Given the description of an element on the screen output the (x, y) to click on. 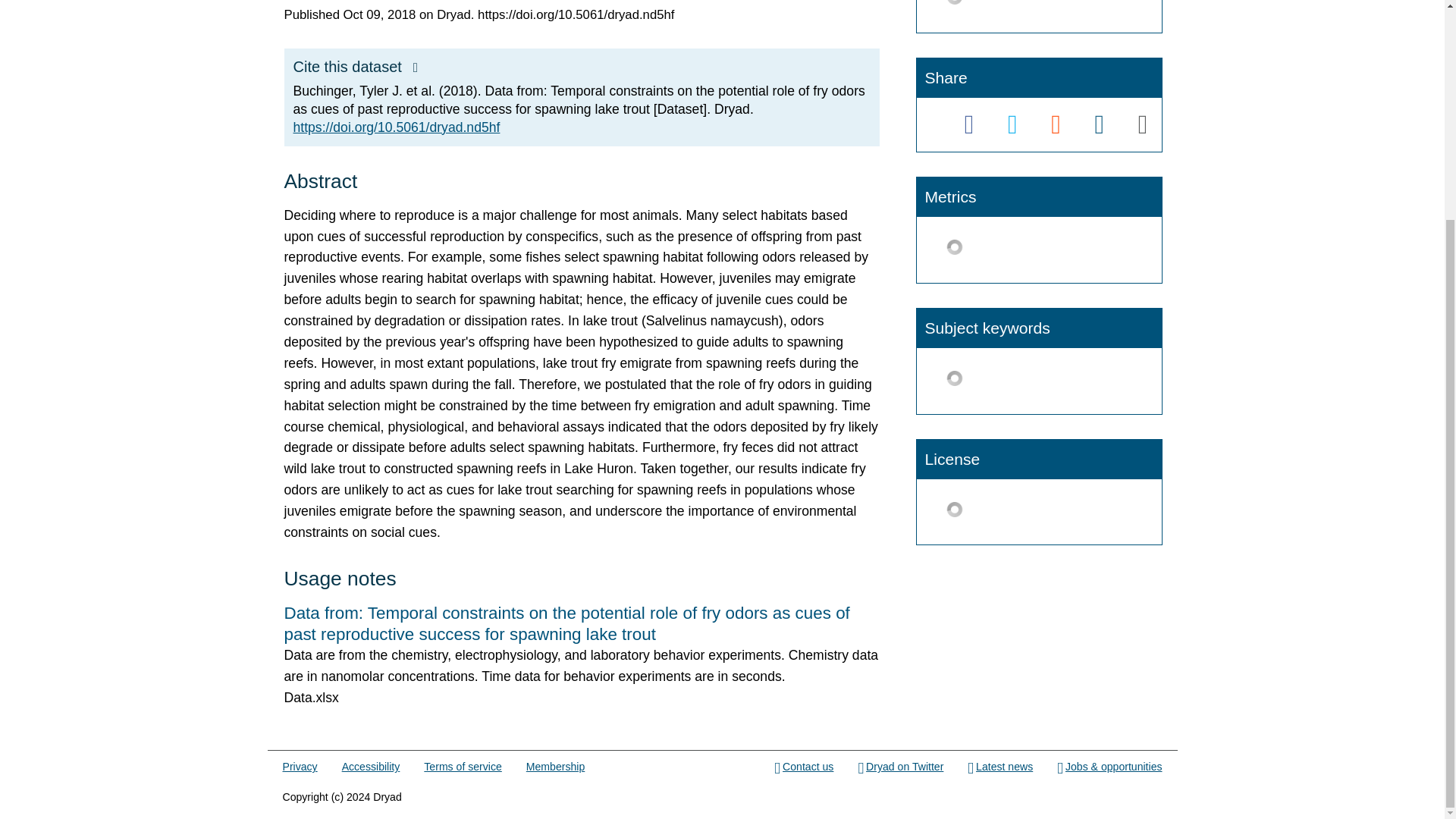
Membership (555, 767)
Accessibility (371, 767)
Contact us (803, 767)
Terms of service (461, 767)
Privacy (299, 767)
